Given the description of an element on the screen output the (x, y) to click on. 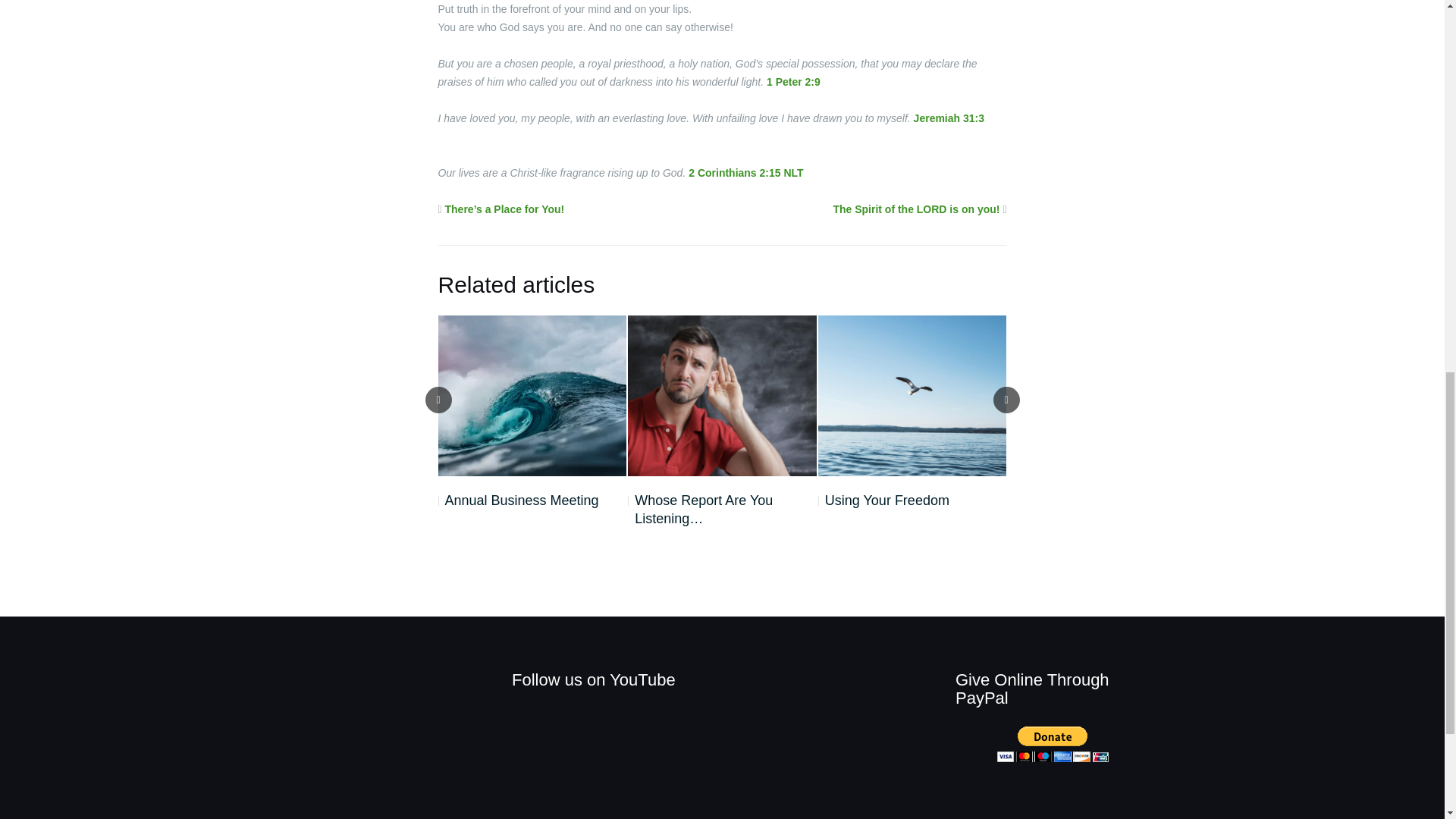
The Spirit of the LORD is on you! (915, 209)
Using Your Freedom (883, 500)
1 Peter 2:9 (794, 81)
2 Corinthians 2:15 NLT (745, 173)
Annual Business Meeting (518, 500)
Jeremiah 31:3 (949, 118)
